Given the description of an element on the screen output the (x, y) to click on. 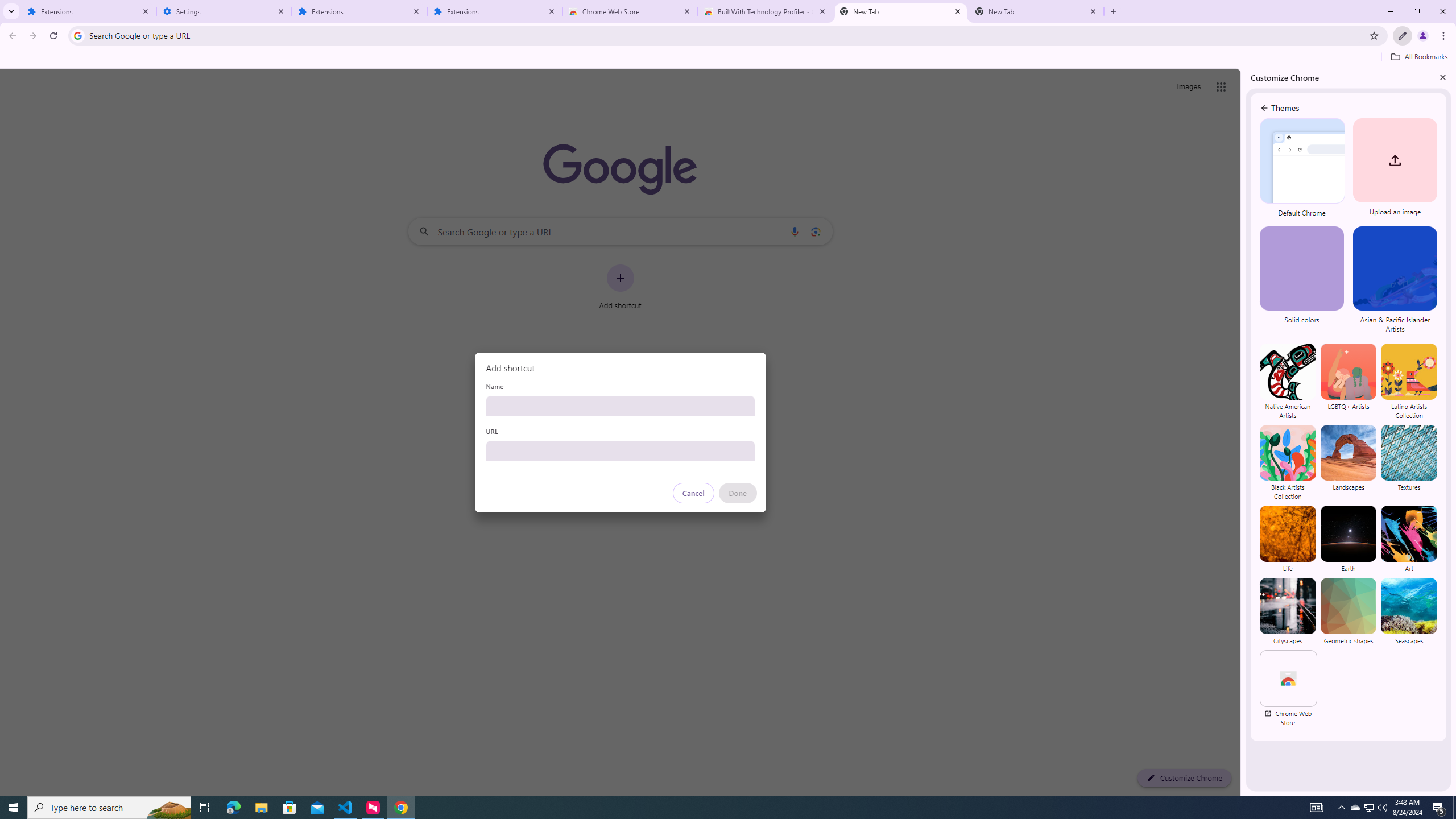
Bookmarks (728, 58)
Textures (1408, 462)
Black Artists Collection (1287, 462)
Done (737, 493)
Asian & Pacific Islander Artists (1393, 281)
Cityscapes (1287, 611)
AutomationID: cornerNewTabPage (1314, 173)
 Chrome Web Store (1287, 688)
Default Chrome (1302, 168)
URL (620, 450)
